Given the description of an element on the screen output the (x, y) to click on. 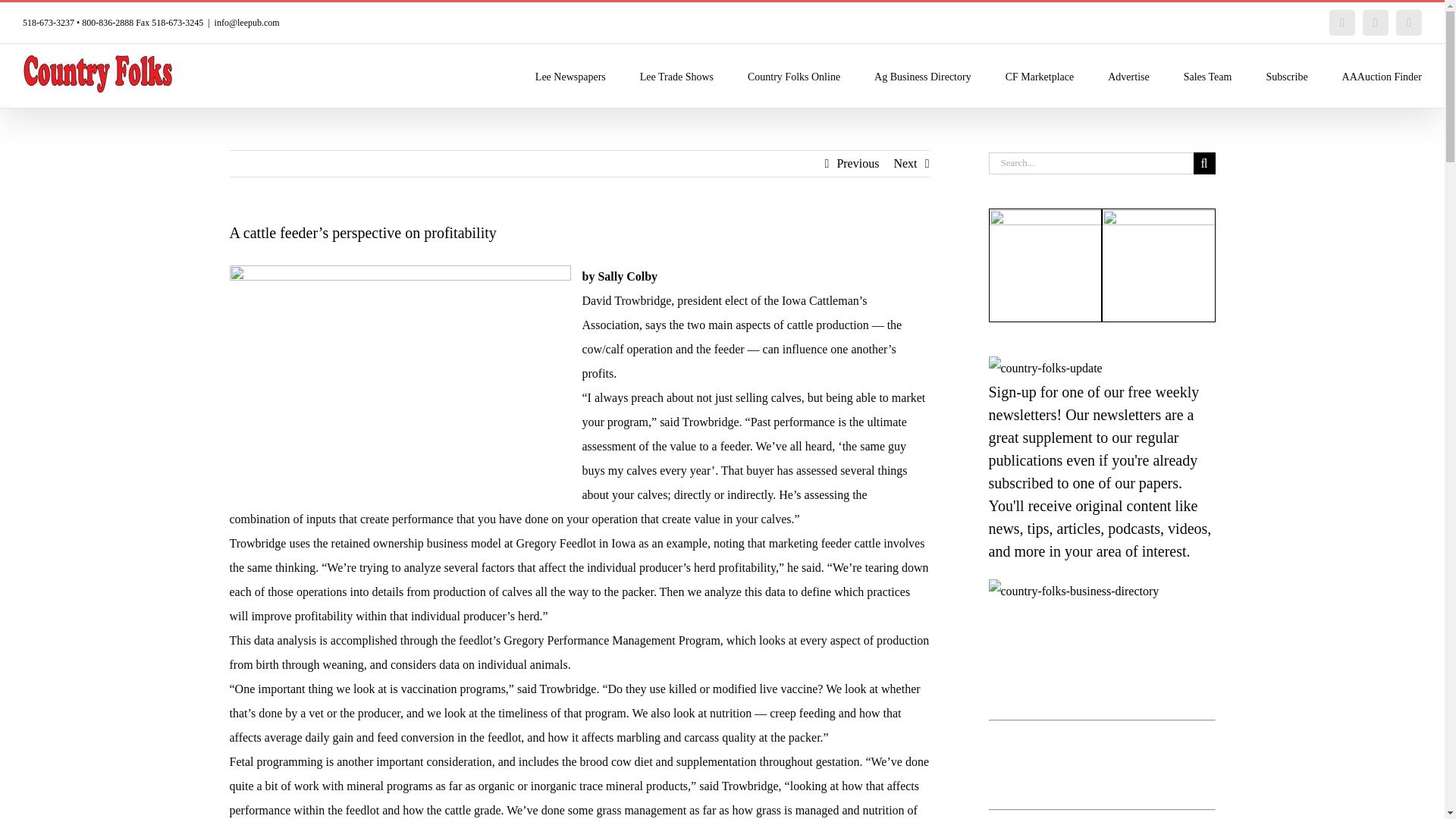
Twitter (1375, 22)
Ag Business Directory (923, 75)
Lee Trade Shows (676, 75)
Lee Newspapers (570, 75)
Instagram (1409, 22)
AAAuction Finder (1382, 75)
Twitter (1375, 22)
Facebook (1342, 22)
CF Marketplace (1040, 75)
Country Folks Online (794, 75)
Instagram (1409, 22)
Facebook (1342, 22)
